Given the description of an element on the screen output the (x, y) to click on. 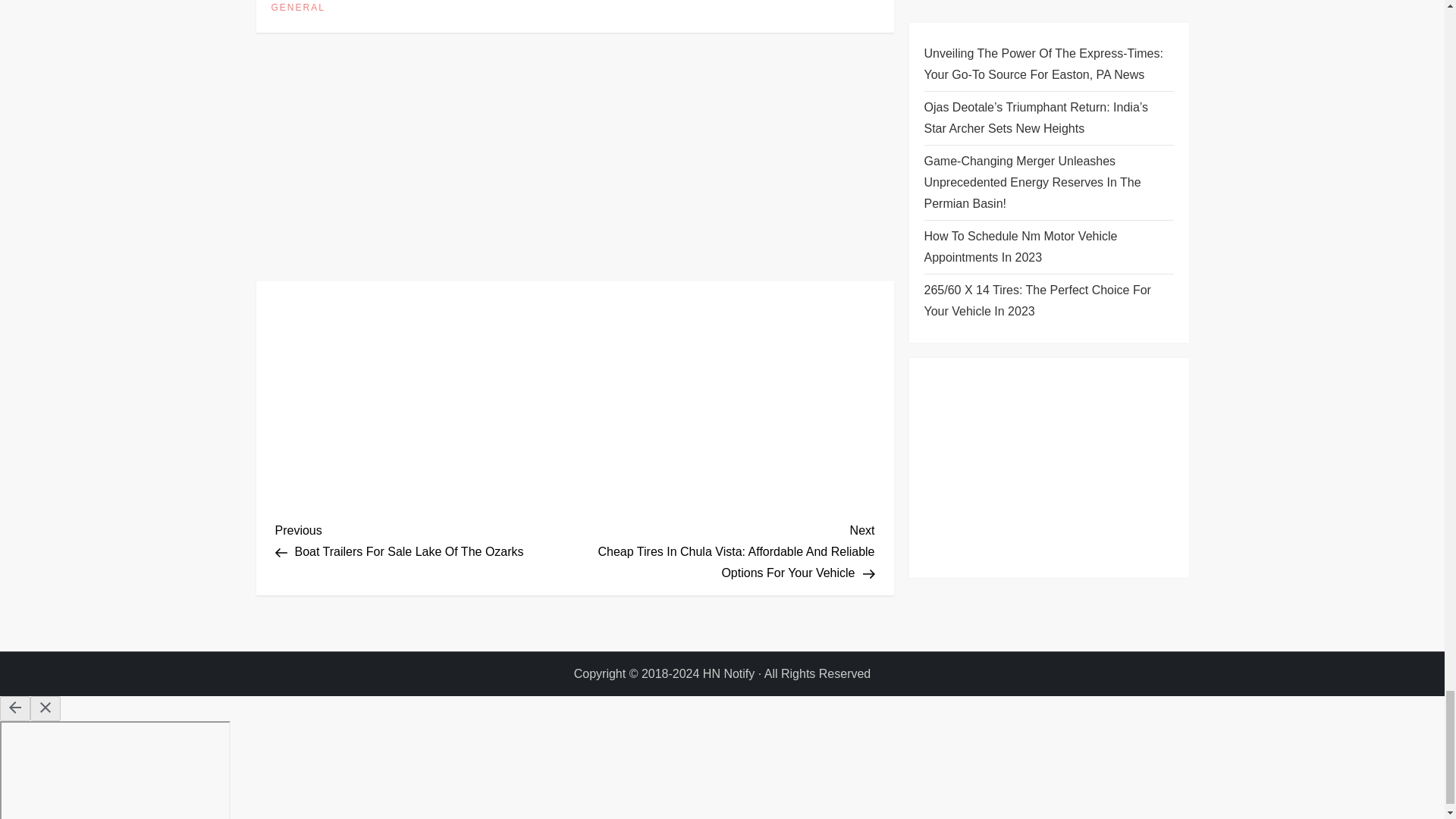
GENERAL (297, 8)
